Given the description of an element on the screen output the (x, y) to click on. 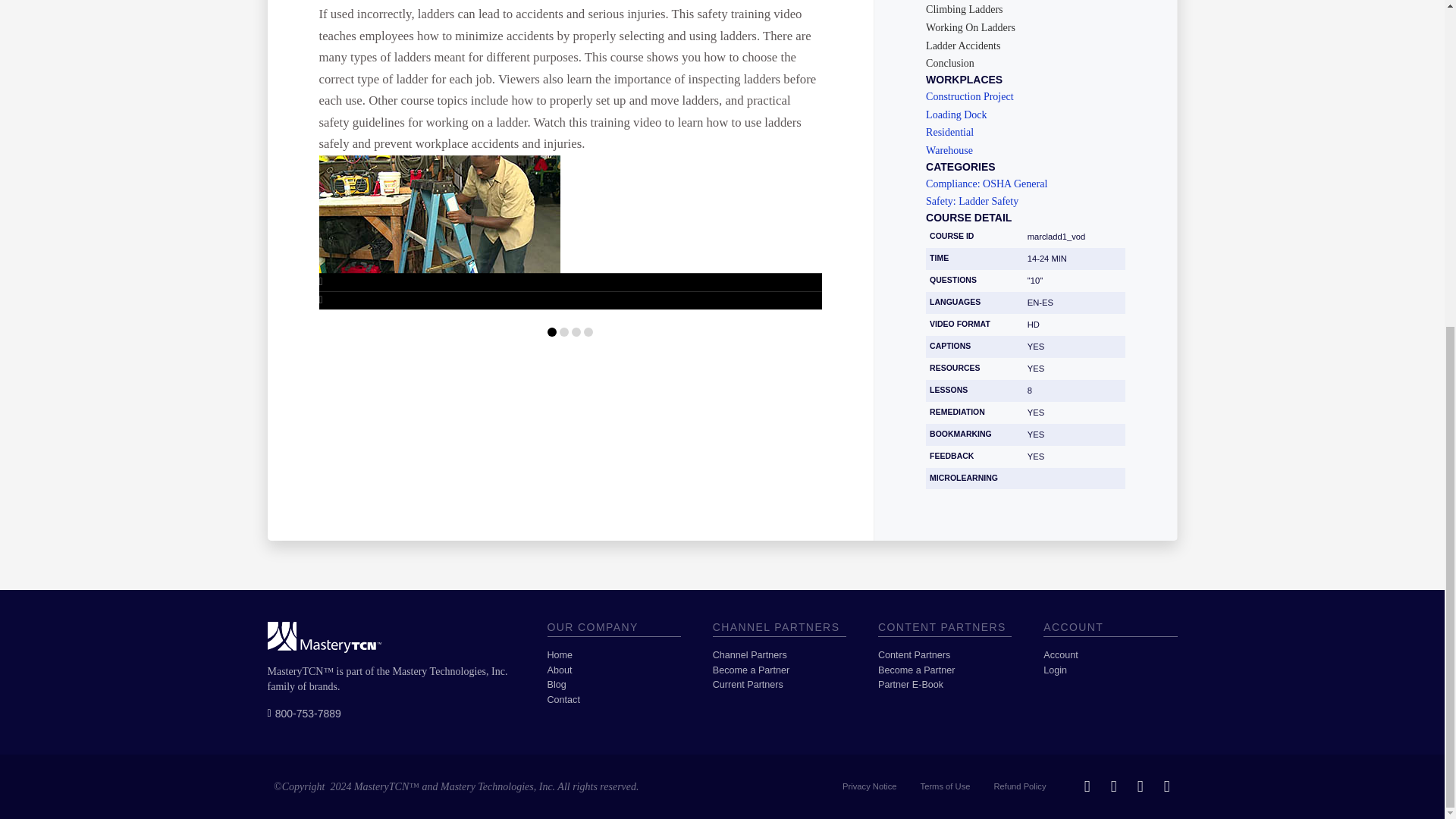
Become a Partner (944, 670)
Compliance: OSHA General (1025, 184)
Refund Policy (1019, 786)
Current Partners (779, 685)
Account (1109, 654)
Home (614, 654)
Contact (614, 699)
Safety: Ladder Safety (1025, 201)
800-753-7889 (303, 713)
Residential (1025, 132)
